Given the description of an element on the screen output the (x, y) to click on. 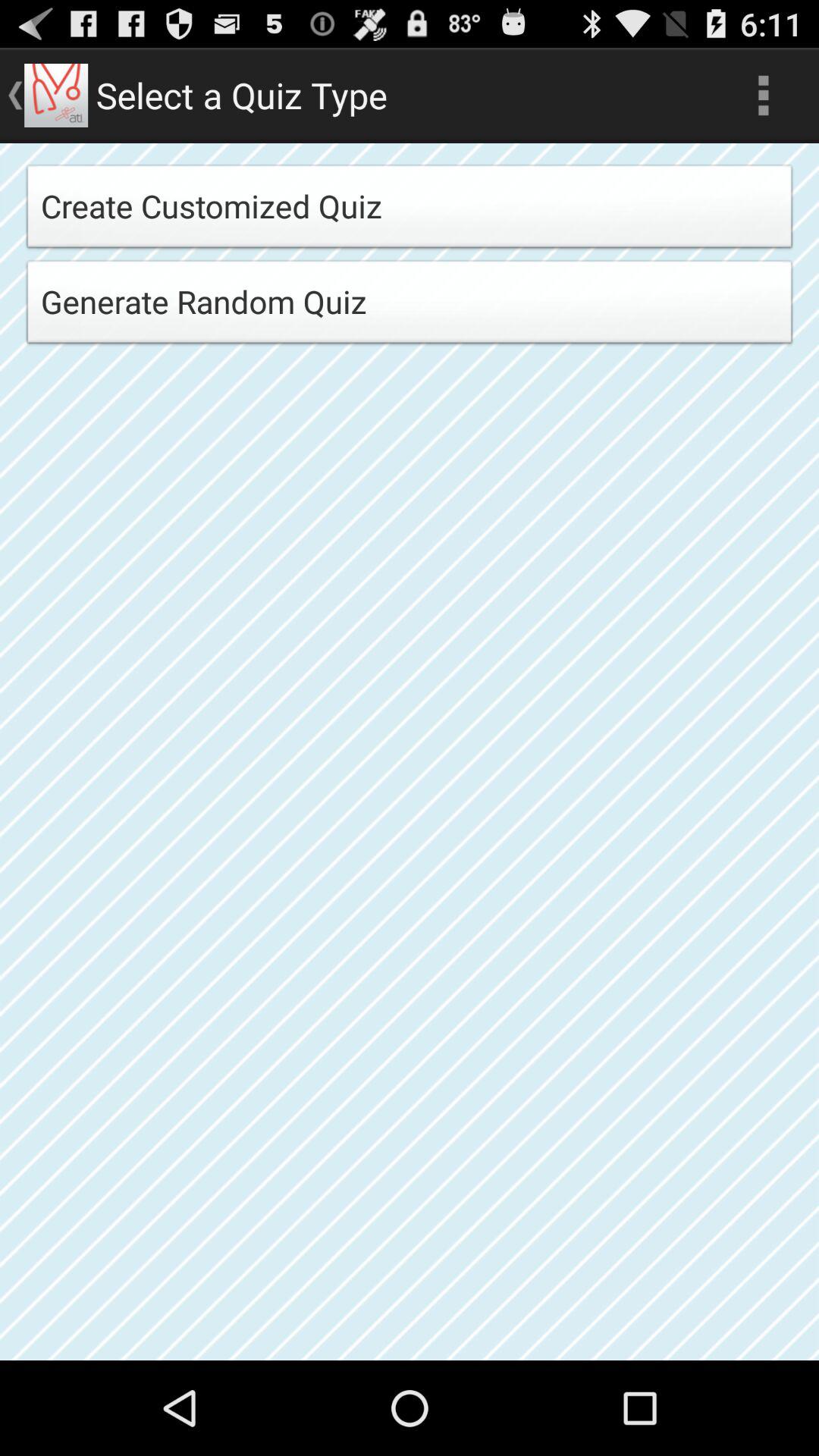
choose icon below the create customized quiz item (409, 306)
